Given the description of an element on the screen output the (x, y) to click on. 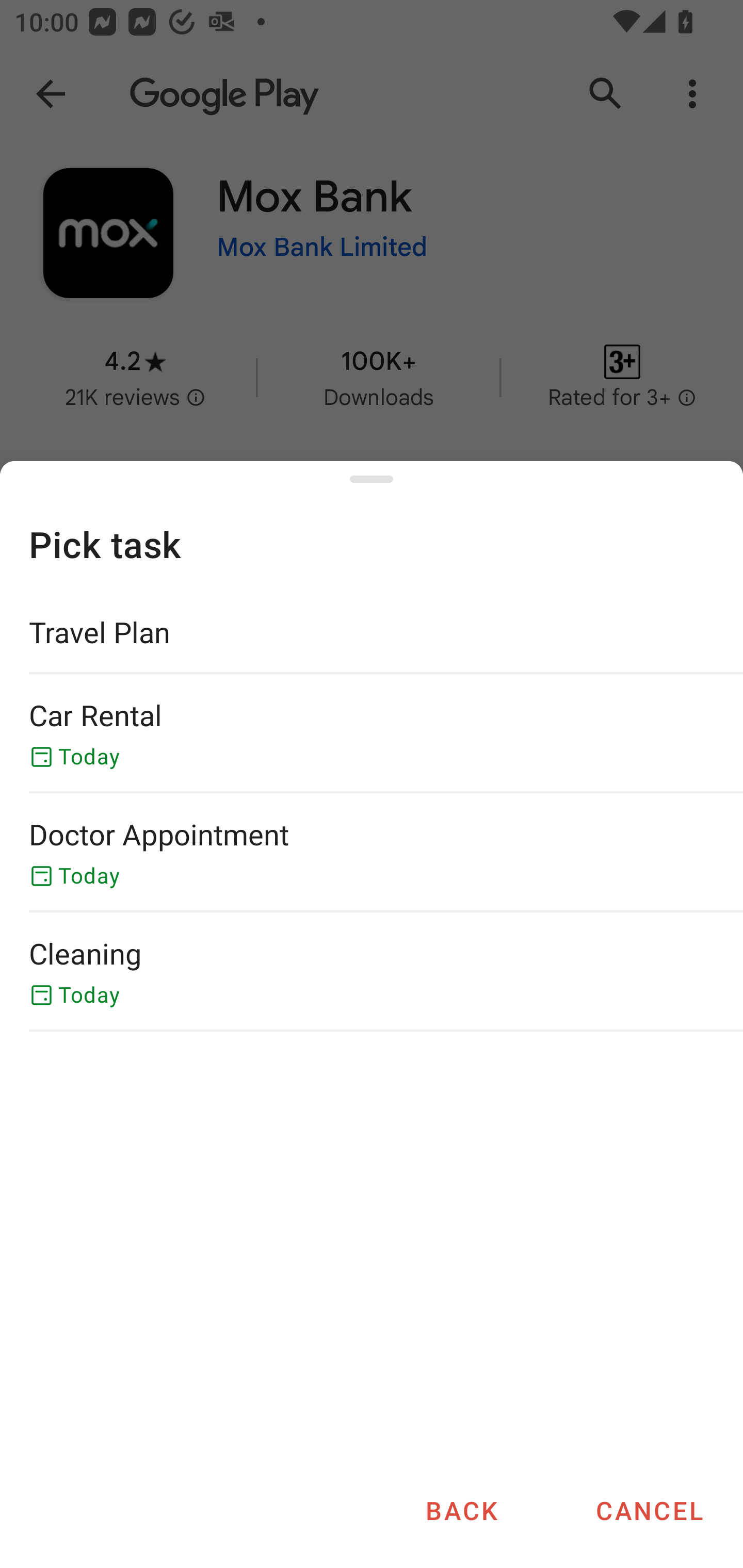
Travel Plan (371, 631)
Car Rental Today (371, 732)
Doctor Appointment Today (371, 852)
Cleaning Today (371, 971)
BACK (460, 1510)
CANCEL (648, 1510)
